Given the description of an element on the screen output the (x, y) to click on. 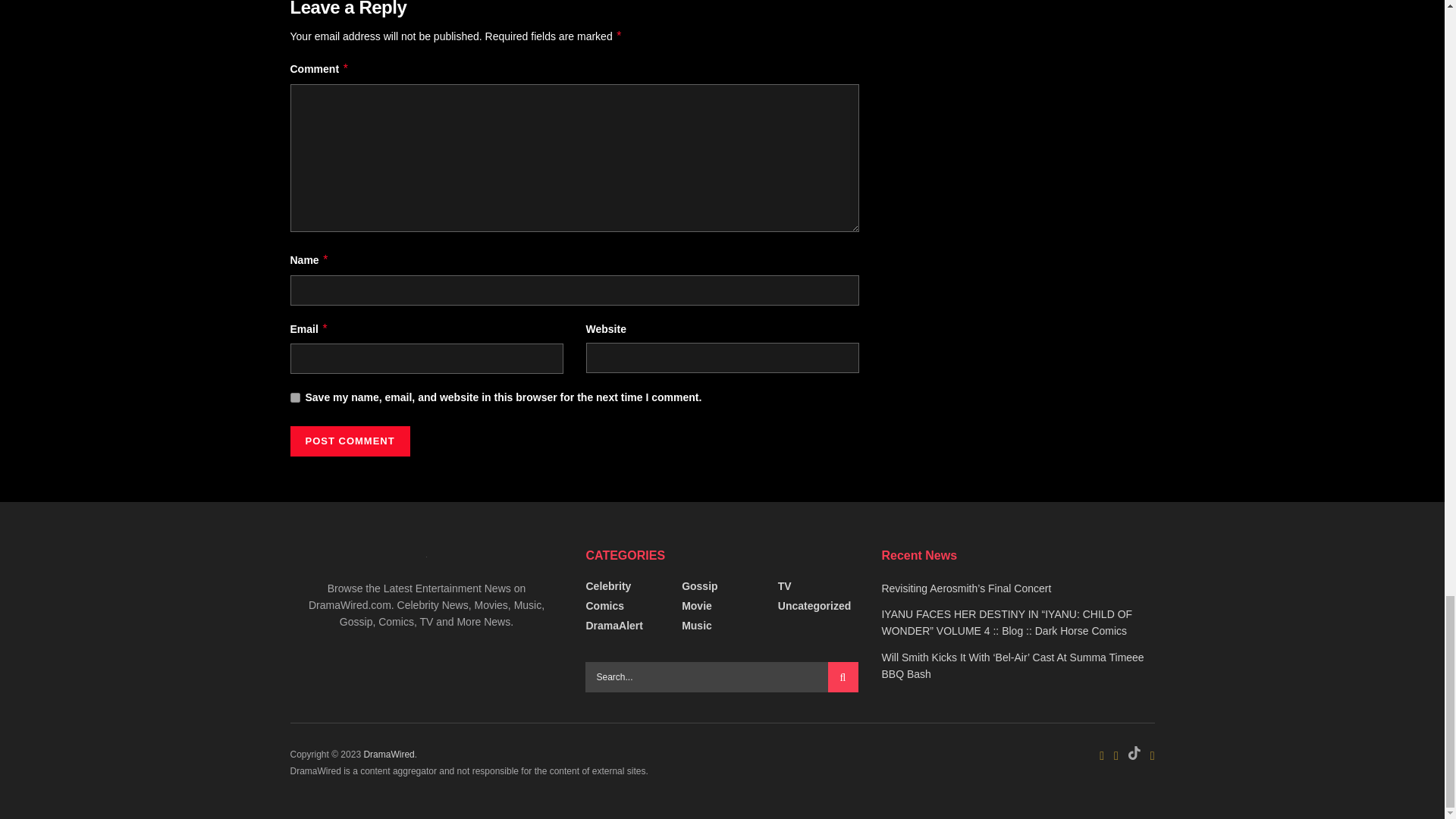
yes (294, 397)
Post Comment (349, 440)
